Given the description of an element on the screen output the (x, y) to click on. 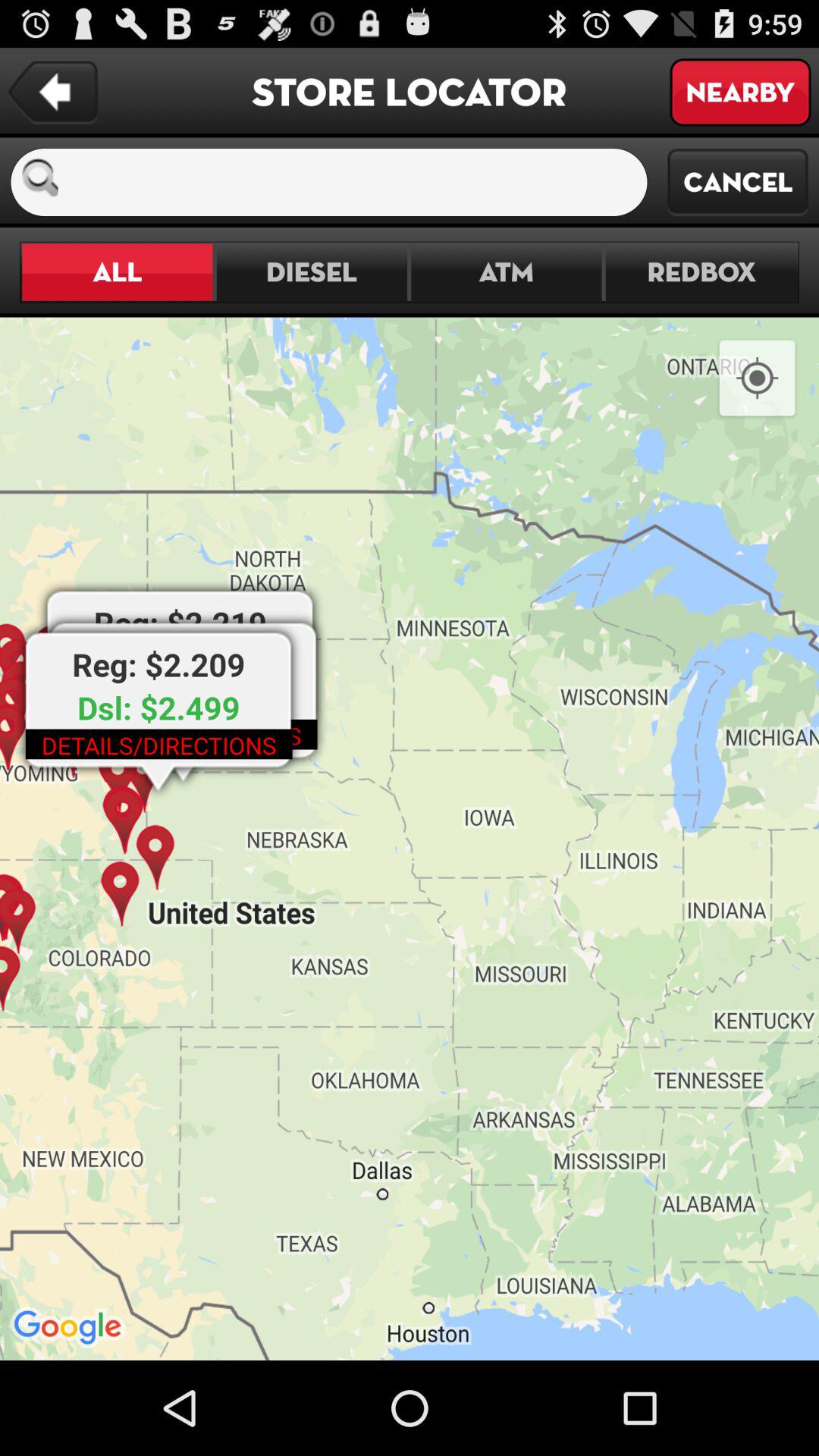
turn off redbox (700, 271)
